Given the description of an element on the screen output the (x, y) to click on. 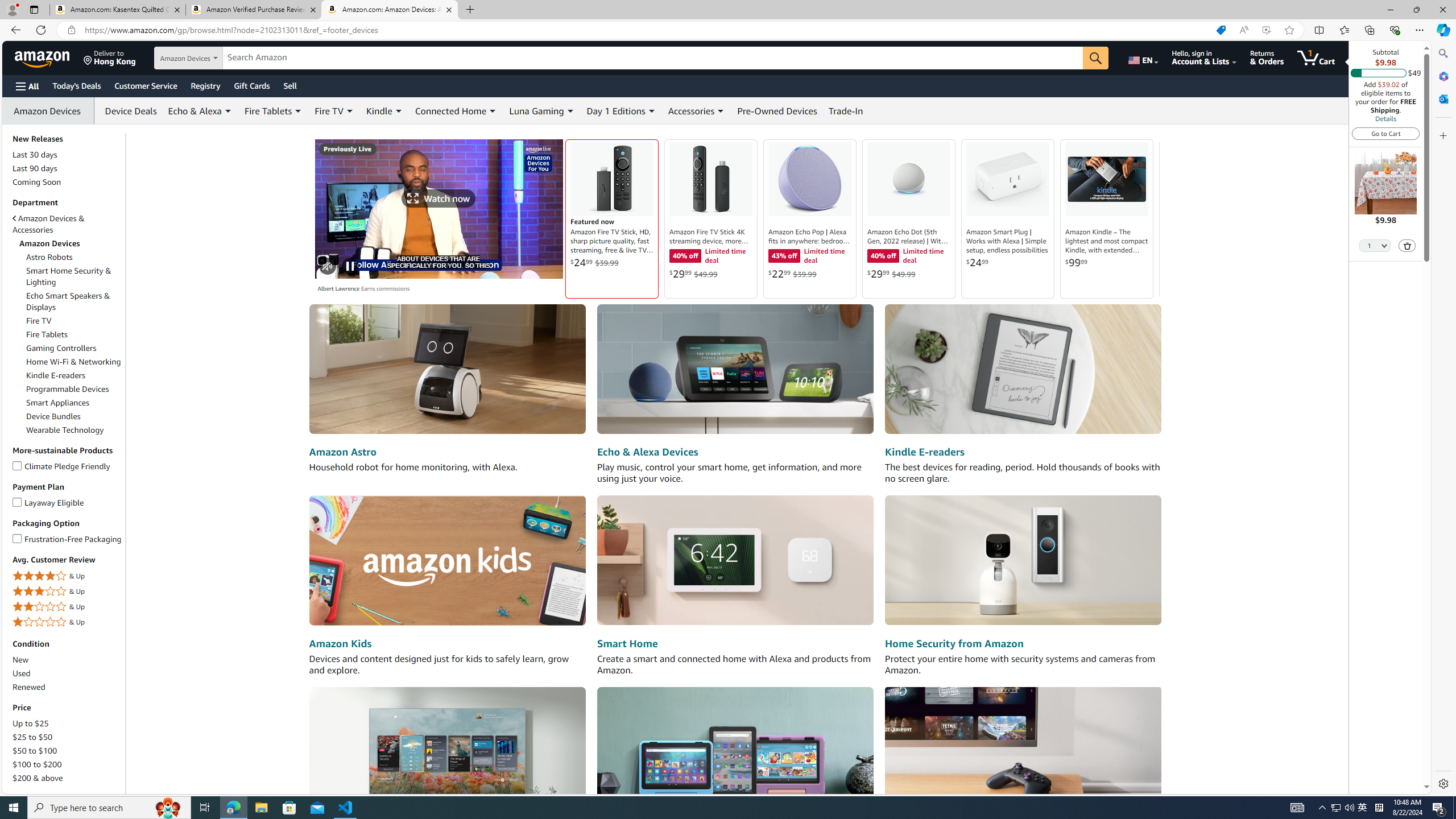
Echo & Alexa (194, 110)
Amazon Luna (1022, 751)
Amazon Devices (49, 110)
Unmute (327, 265)
Device Bundles (74, 415)
Coming Soon (37, 181)
Home Wi-Fi & Networking (73, 361)
Device Deals (128, 110)
Last 30 days (67, 154)
Amazon Luna (1022, 751)
Home Security devices (1022, 560)
Frustration-Free Packaging (17, 536)
